Given the description of an element on the screen output the (x, y) to click on. 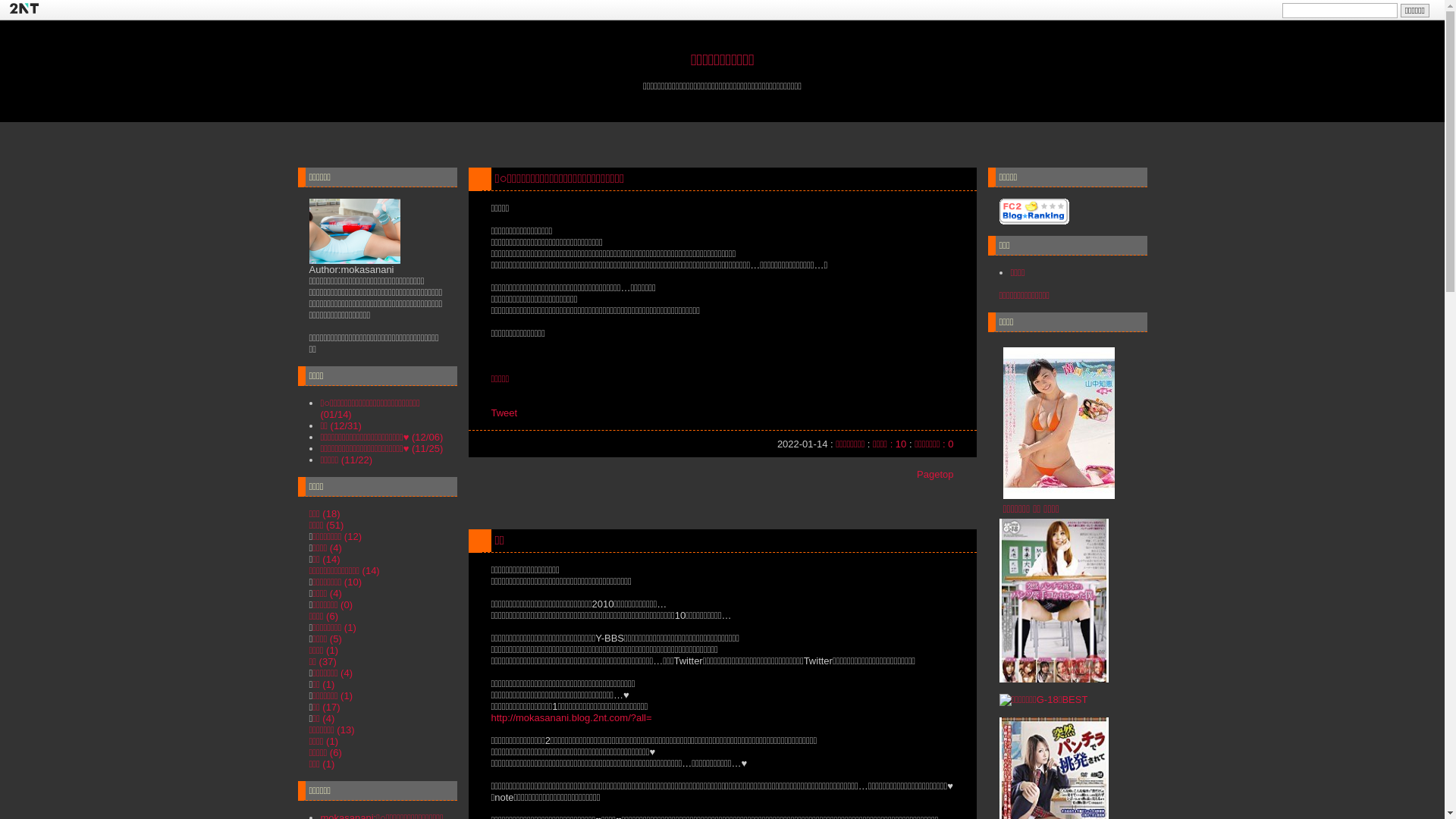
Pagetop Element type: text (934, 474)
http://mokasanani.blog.2nt.com/?all= Element type: text (571, 717)
Tweet Element type: text (504, 412)
